Given the description of an element on the screen output the (x, y) to click on. 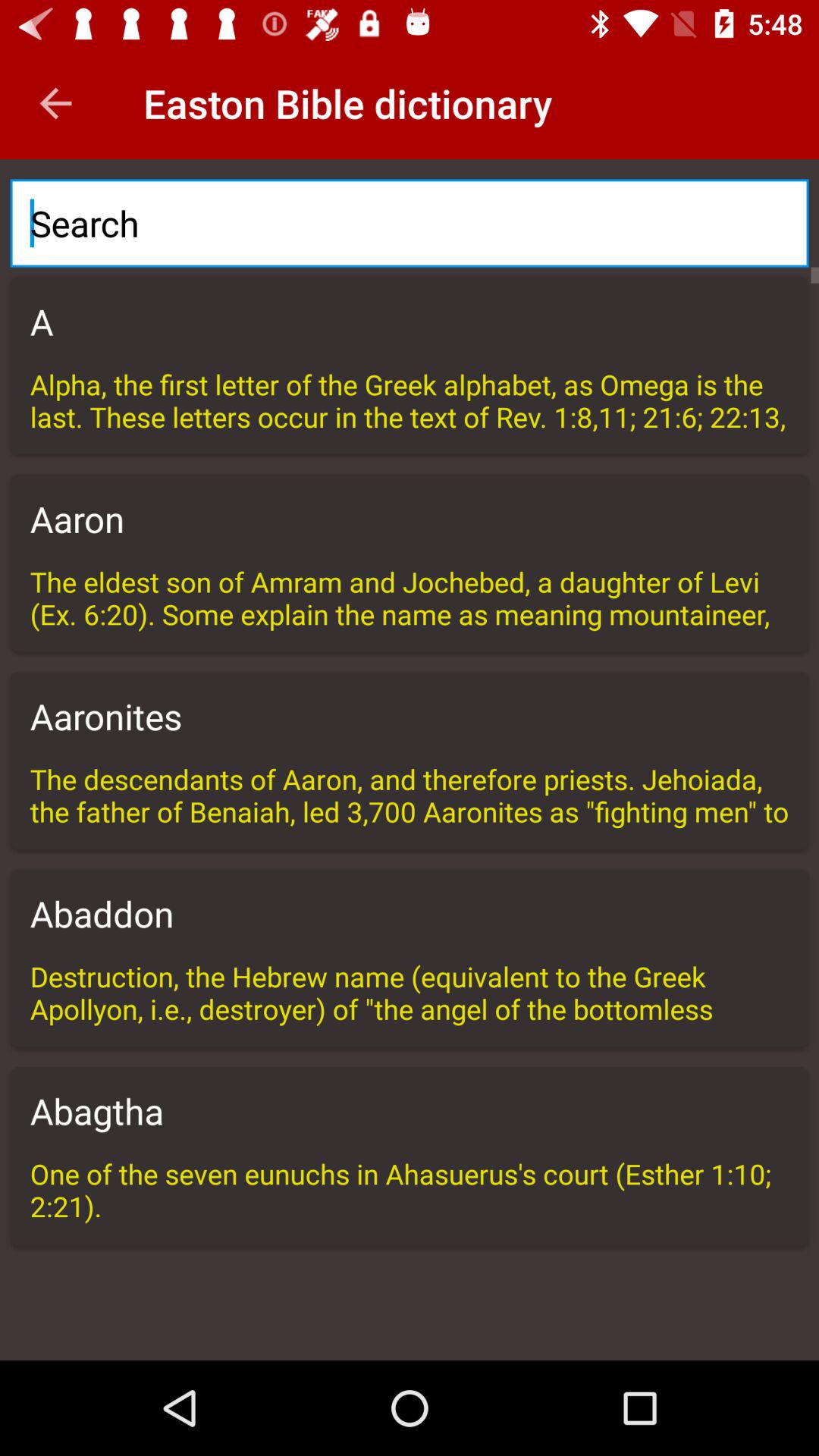
scroll to the eldest son item (409, 597)
